Given the description of an element on the screen output the (x, y) to click on. 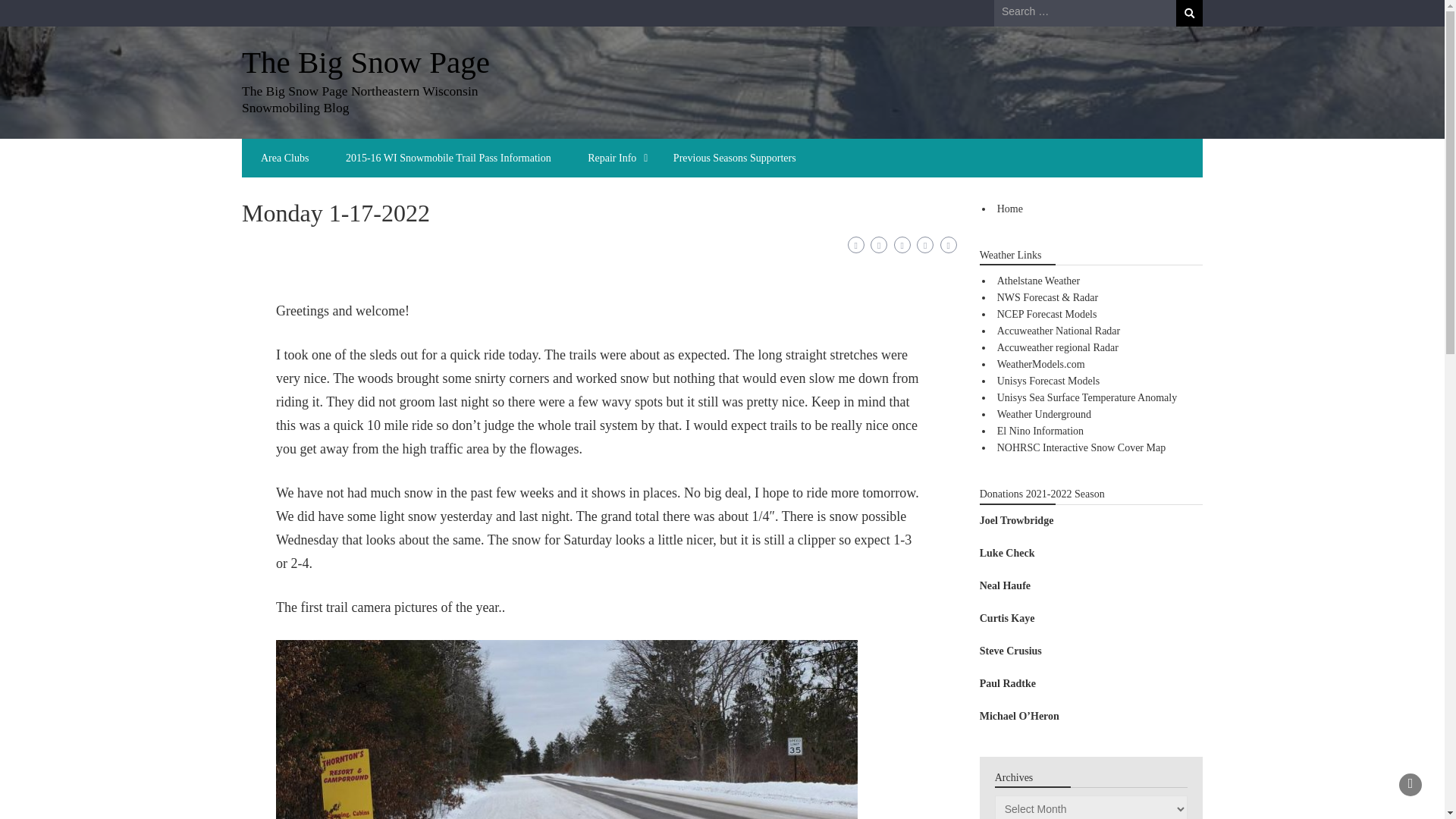
Area Clubs (284, 157)
Weather Underground (1043, 414)
Unisys Sea Surface Temperature Anomaly (1086, 397)
Accuweather National Radar (1058, 330)
Athelstane Weather (1038, 280)
El Nino Information (1040, 430)
NCEP Forecast Models (1047, 314)
Home (1010, 208)
Unisys Forecast Models (1048, 380)
Search for: (1085, 11)
Previous Seasons Supporters (734, 157)
The Big Snow Page (365, 62)
Search (1189, 13)
NOHRSC Interactive Snow Cover Map (1081, 447)
WeatherModels.com (1040, 364)
